Given the description of an element on the screen output the (x, y) to click on. 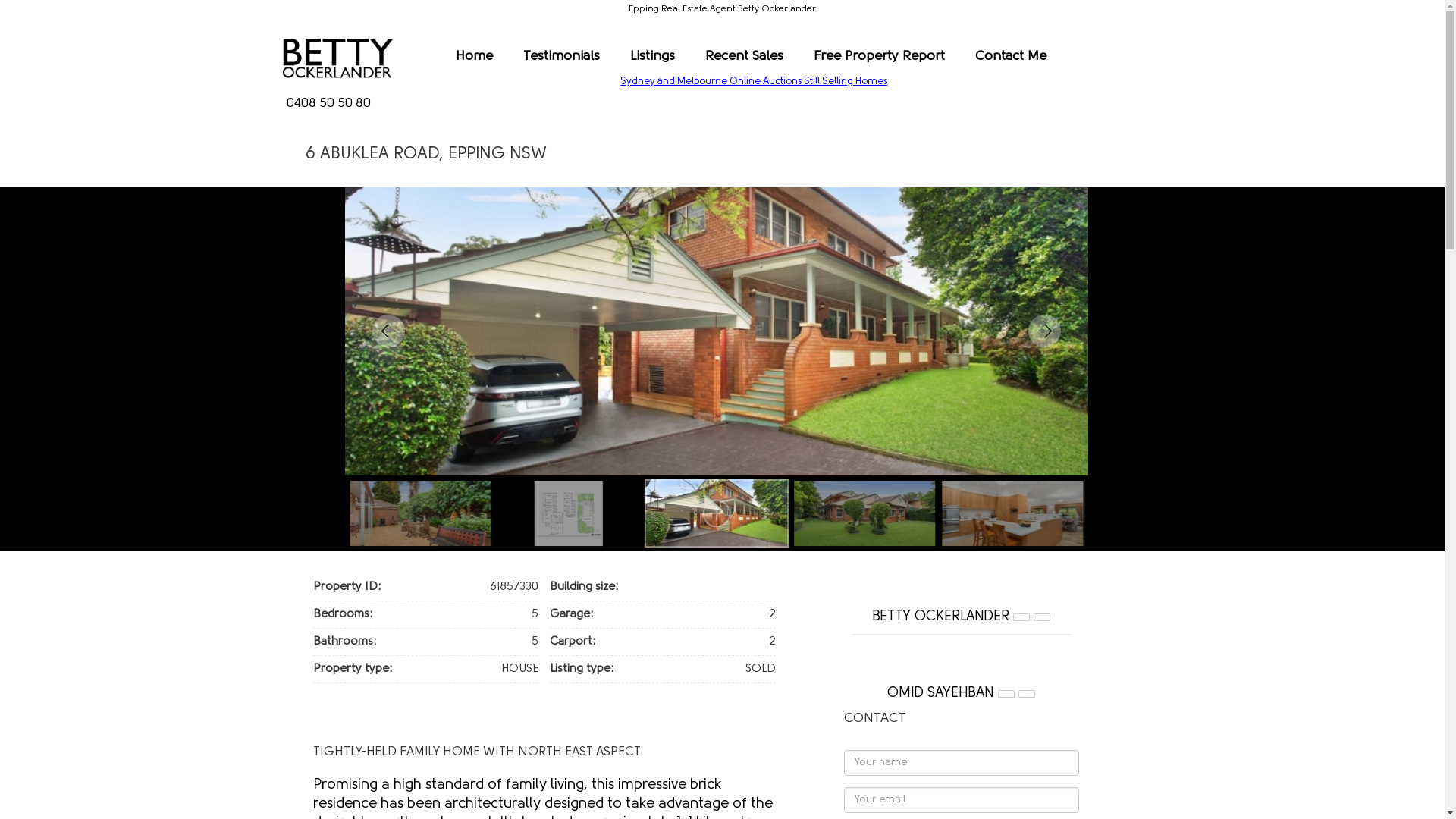
Home Element type: text (474, 56)
Contact Me Element type: text (1010, 56)
OMID SAYEHBAN Element type: text (940, 693)
0408 50 50 80 Element type: text (328, 107)
BETTY OCKERLANDER Element type: text (940, 617)
Sydney and Melbourne Online Auctions Still Selling Homes Element type: text (753, 81)
Recent Sales Element type: text (744, 56)
Listings Element type: text (652, 56)
Testimonials Element type: text (561, 56)
Free Property Report Element type: text (879, 56)
